Given the description of an element on the screen output the (x, y) to click on. 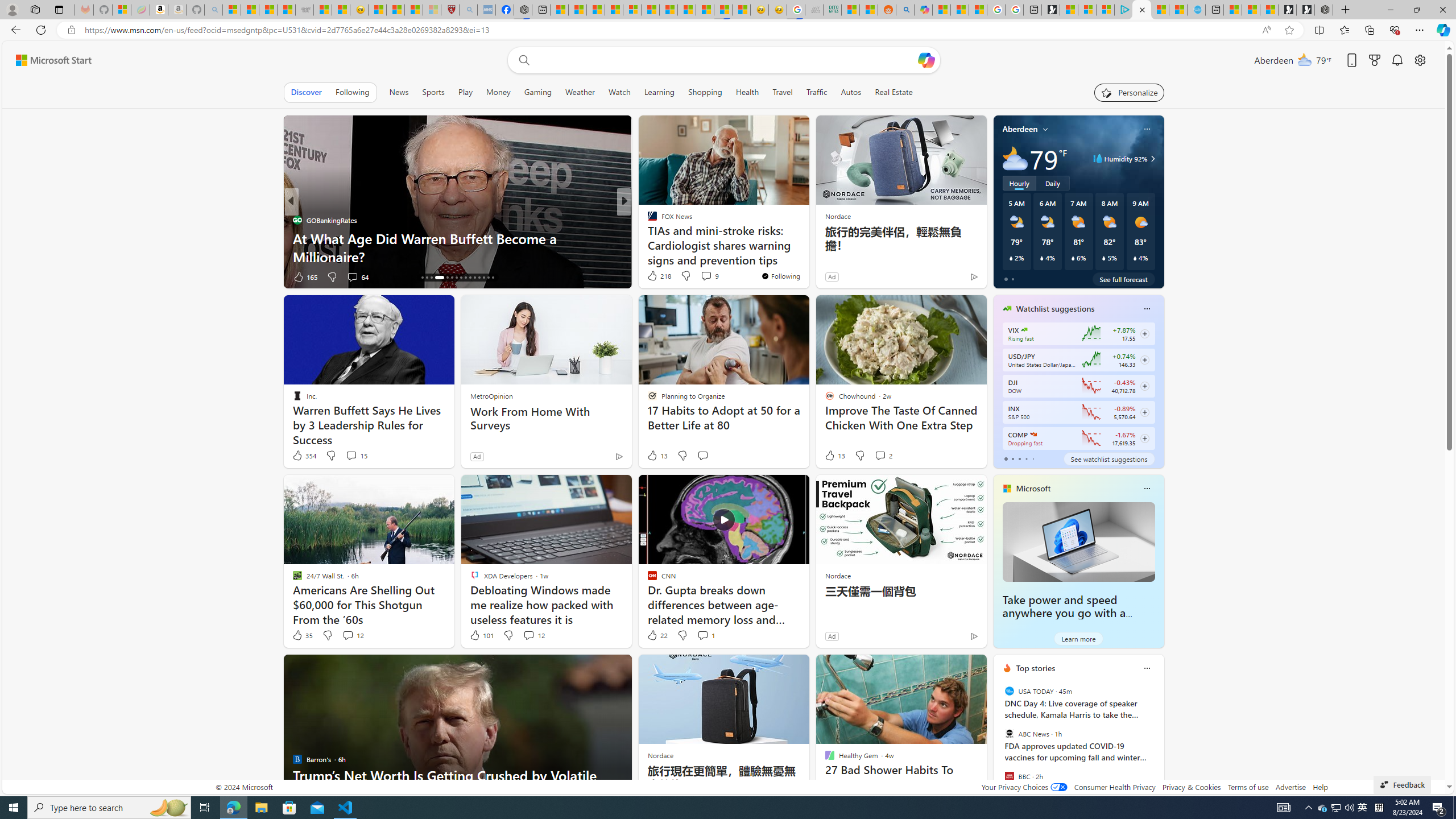
Class: weather-arrow-glyph (1152, 158)
14 Like (652, 276)
Take power and speed anywhere you go with a Windows laptop. (1077, 541)
View comments 15 Comment (355, 455)
